Given the description of an element on the screen output the (x, y) to click on. 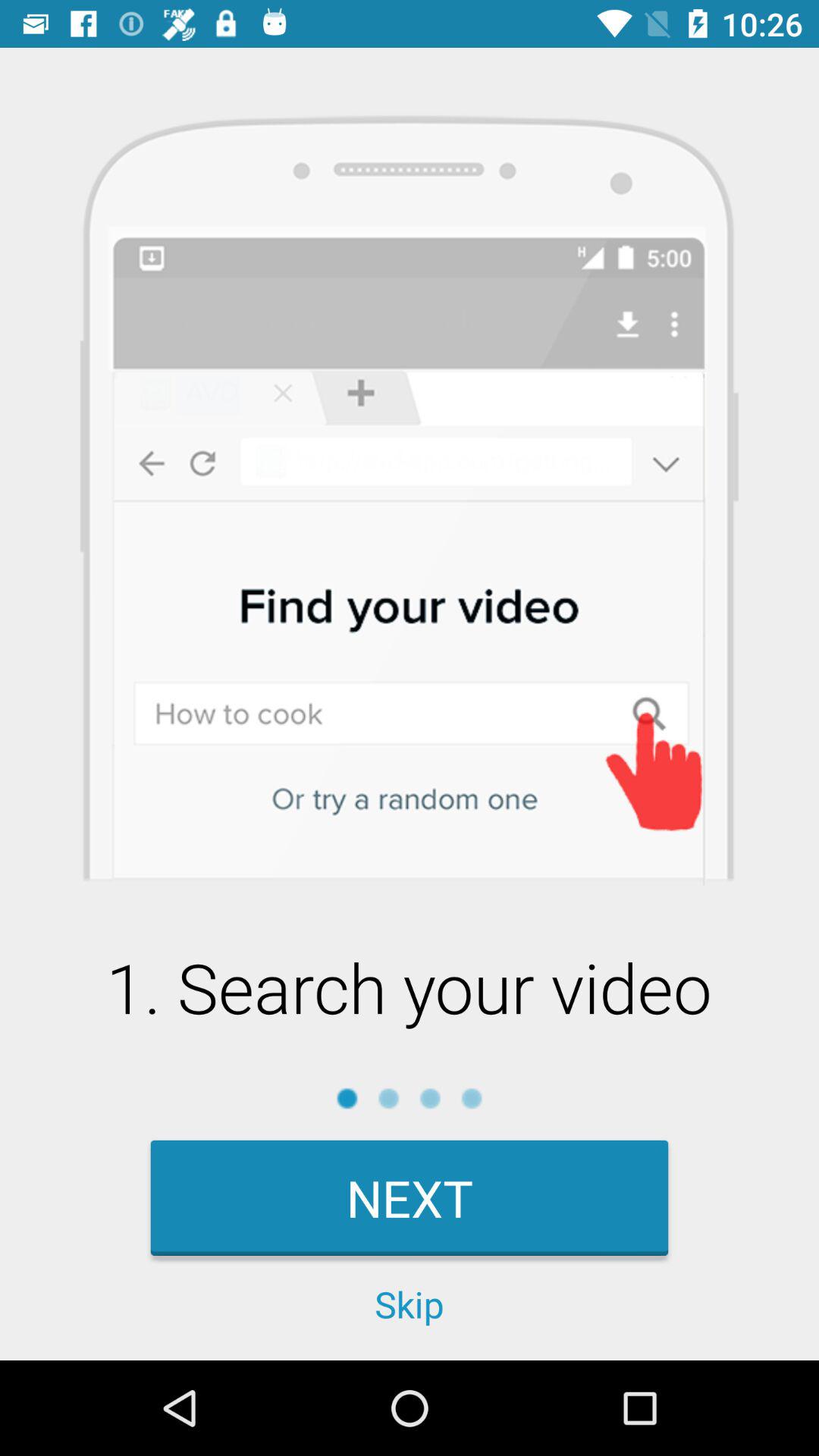
select skip item (409, 1303)
